Given the description of an element on the screen output the (x, y) to click on. 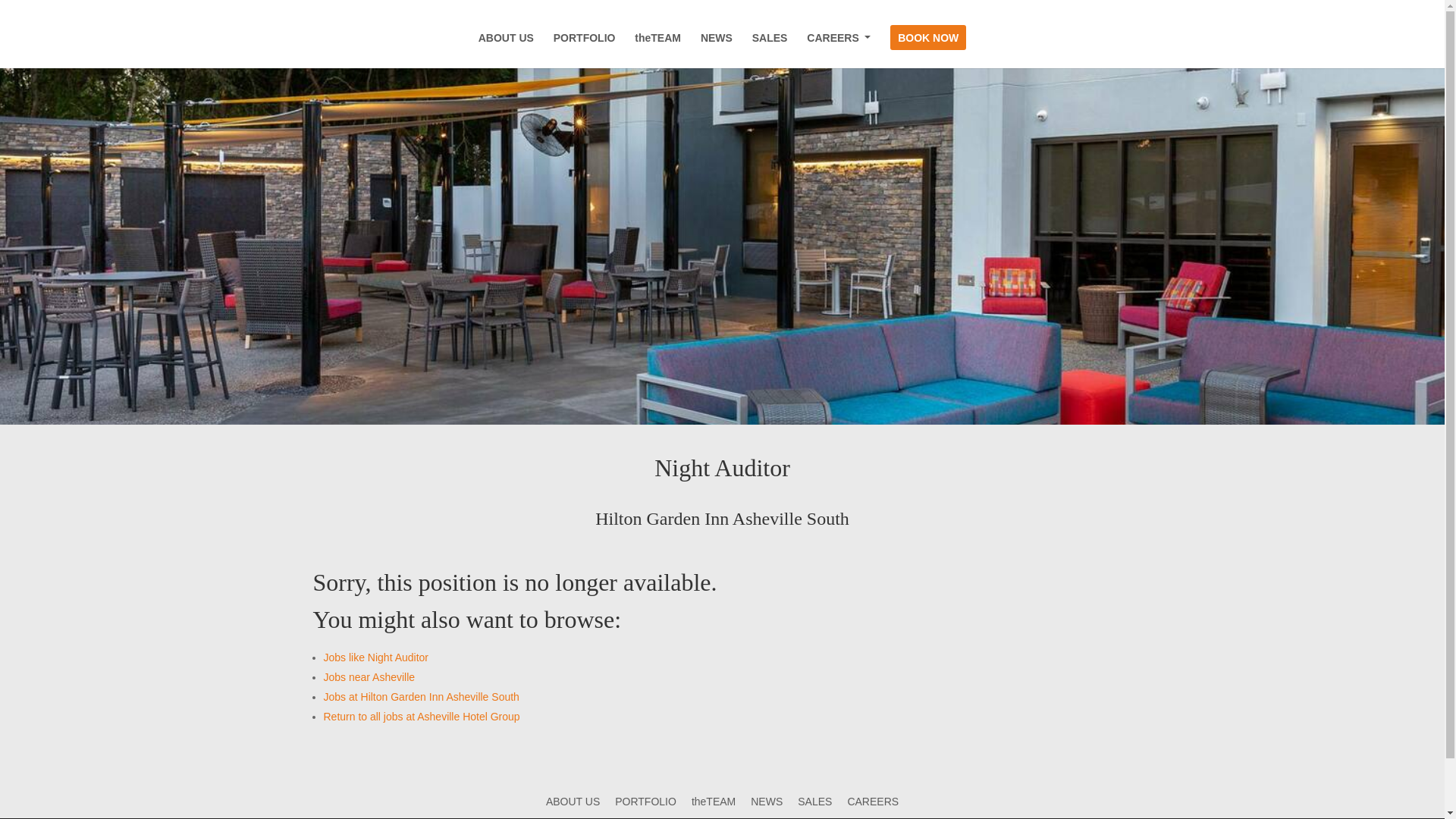
BOOK NOW (928, 49)
Jobs like Night Auditor (375, 657)
Return to all jobs at Asheville Hotel Group (421, 716)
CAREERS (838, 37)
ABOUT US (506, 49)
CAREERS (872, 801)
NEWS (767, 801)
Jobs near Asheville (368, 676)
SALES (769, 49)
theTEAM (713, 801)
